Given the description of an element on the screen output the (x, y) to click on. 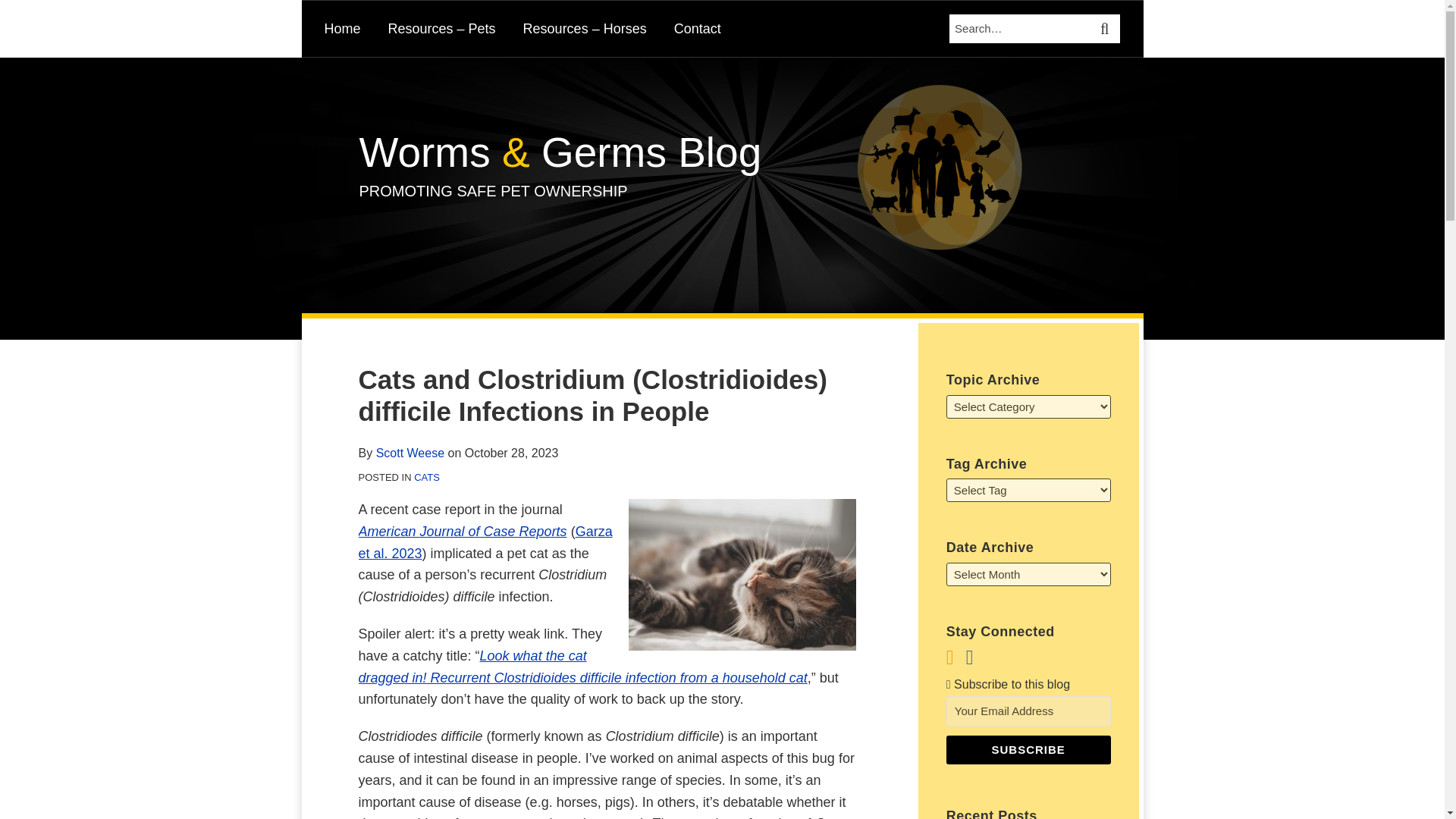
Subscribe (1028, 749)
Home (342, 28)
SEARCH (1106, 28)
Subscribe (1028, 749)
CATS (426, 477)
American Journal of Case Reports (462, 531)
Contact (697, 28)
Garza et al. 2023 (484, 542)
Scott Weese (409, 452)
